Given the description of an element on the screen output the (x, y) to click on. 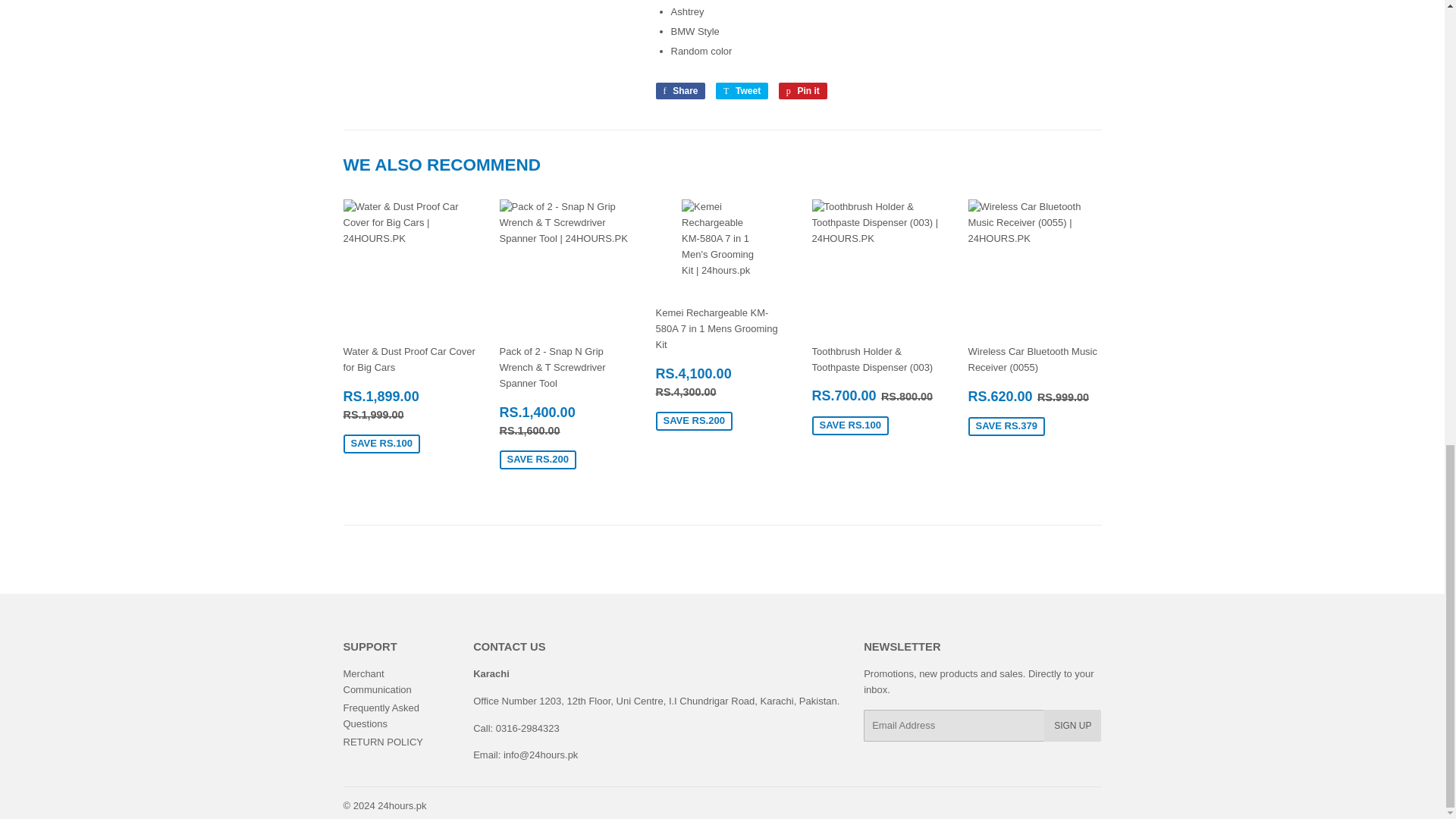
Tweet on Twitter (742, 90)
Pin on Pinterest (802, 90)
Share on Facebook (679, 90)
